Given the description of an element on the screen output the (x, y) to click on. 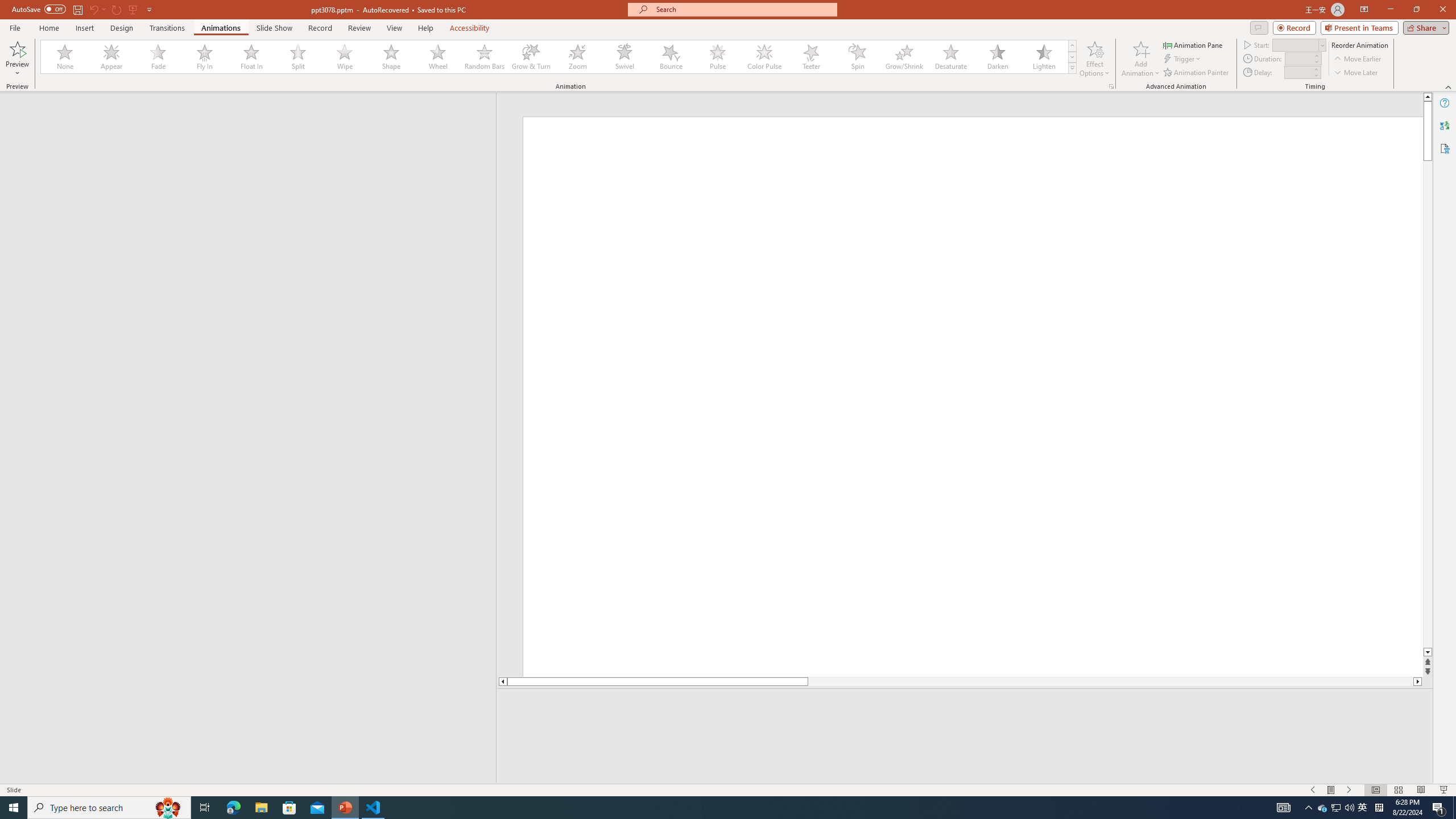
Menu On (1331, 790)
Wipe (344, 56)
None (65, 56)
Teeter (810, 56)
Row Down (1071, 56)
Undo (92, 9)
Trigger (1182, 58)
Swivel (624, 56)
Appear (111, 56)
Split (298, 56)
More Options... (1110, 85)
Redo (117, 9)
Minimize (1390, 9)
Translator (1444, 125)
Transitions (167, 28)
